Given the description of an element on the screen output the (x, y) to click on. 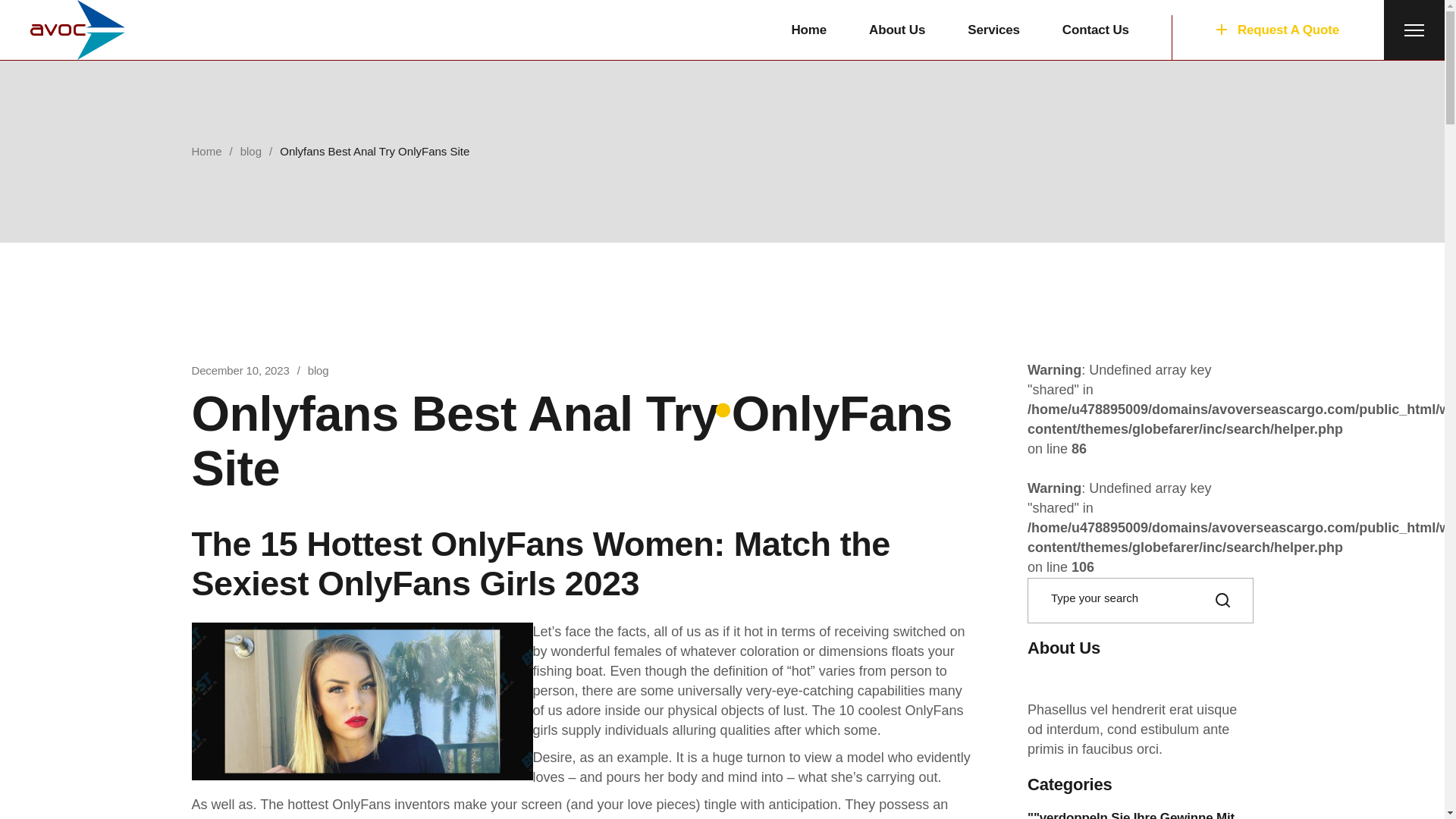
Contact Us (1095, 29)
Request A Quote (1277, 30)
About Us (896, 29)
